Given the description of an element on the screen output the (x, y) to click on. 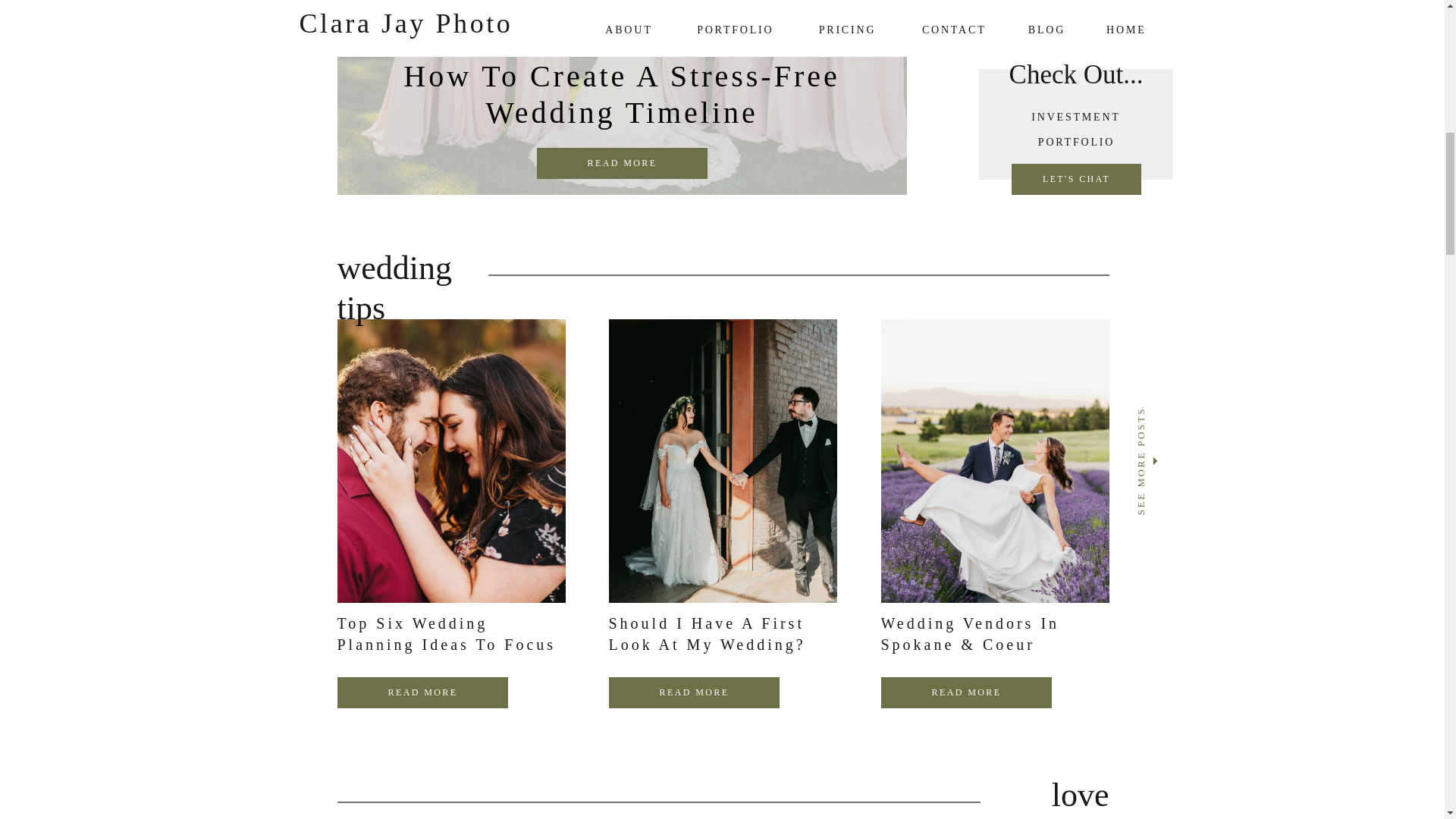
How to Create a Stress-Free Wedding Timeline (621, 163)
How To Create A Stress-Free Wedding Timeline (621, 93)
How to Create a Stress-Free Wedding Timeline (620, 97)
Should I Have A First Look At My Wedding? (706, 633)
READ MORE (965, 692)
READ MORE (422, 692)
How to Create a Stress-Free Wedding Timeline (622, 163)
LET'S CHAT (1076, 179)
How to Create a Stress-Free Wedding Timeline (620, 118)
Should I have a First Look at My Wedding? (694, 692)
READ MORE (694, 692)
FAMILIES (1076, 17)
Should I have a First Look at My Wedding? (693, 692)
INVESTMENT (1075, 114)
PORTFOLIO (1075, 140)
